Given the description of an element on the screen output the (x, y) to click on. 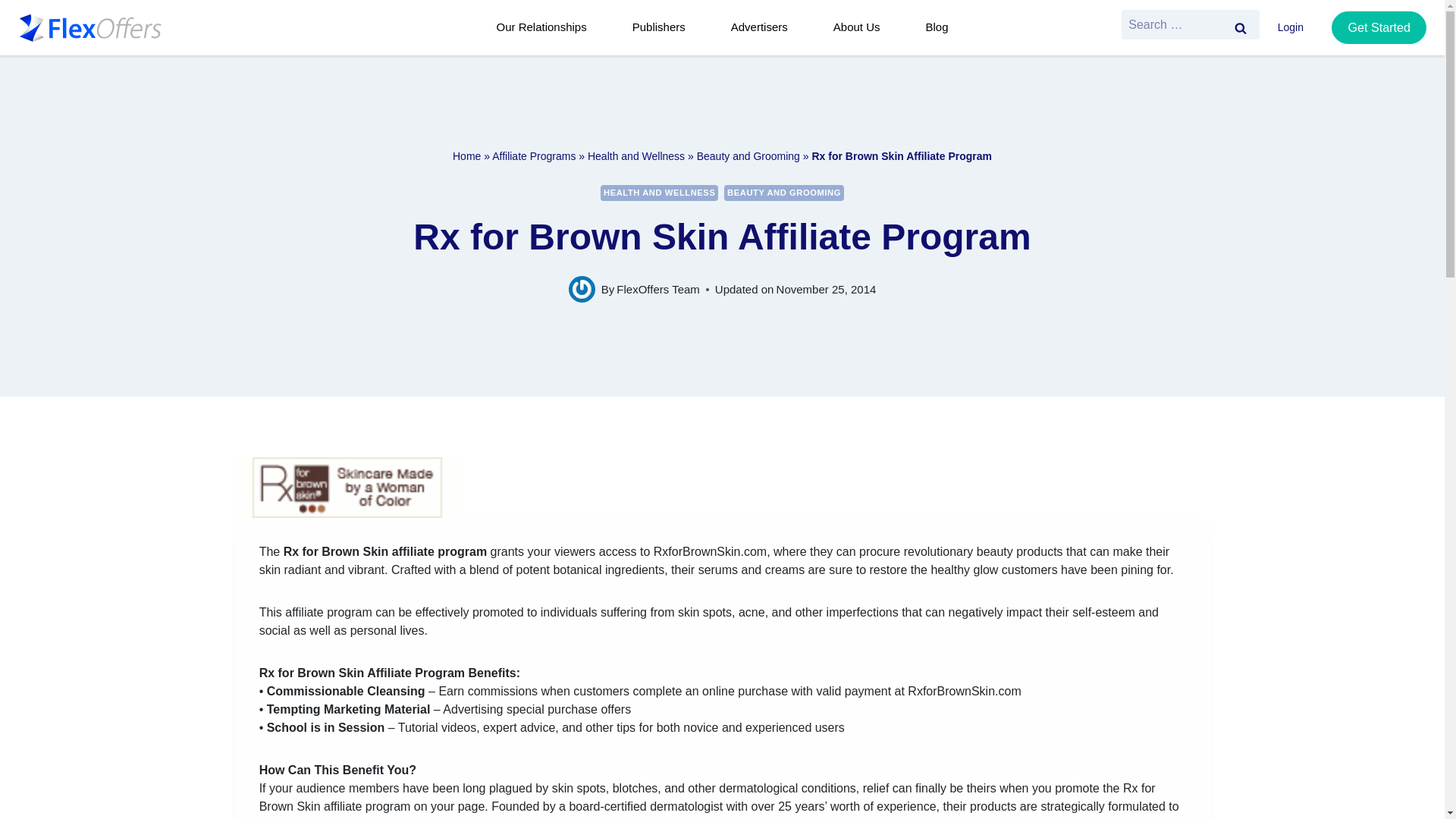
Health and Wellness (636, 155)
Our Relationships (546, 27)
Affiliate Programs (533, 155)
Publishers (663, 27)
Beauty and Grooming (748, 155)
About Us (861, 27)
HEALTH AND WELLNESS (658, 192)
Advertisers (764, 27)
Login (1294, 27)
Get Started (1379, 27)
